Given the description of an element on the screen output the (x, y) to click on. 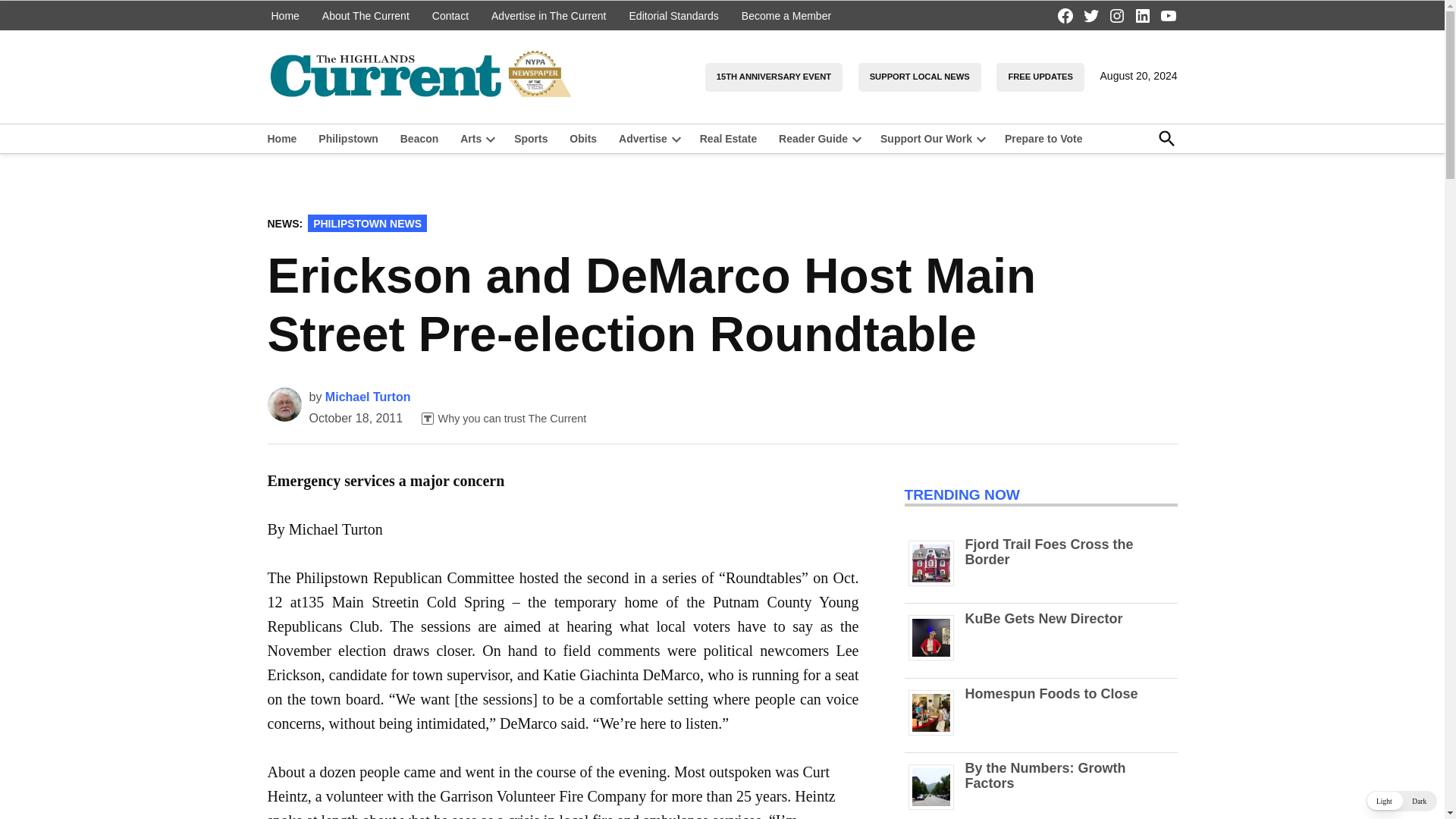
Fjord Trail Foes Cross the Border (1047, 552)
By the Numbers: Growth Factors (1044, 775)
KuBe Gets New Director (1042, 618)
KuBe Gets New Director (936, 659)
Homespun Foods to Close (1050, 693)
Homespun Foods to Close (936, 735)
Fjord Trail Foes Cross the Border (936, 585)
By the Numbers: Growth Factors (936, 809)
